Given the description of an element on the screen output the (x, y) to click on. 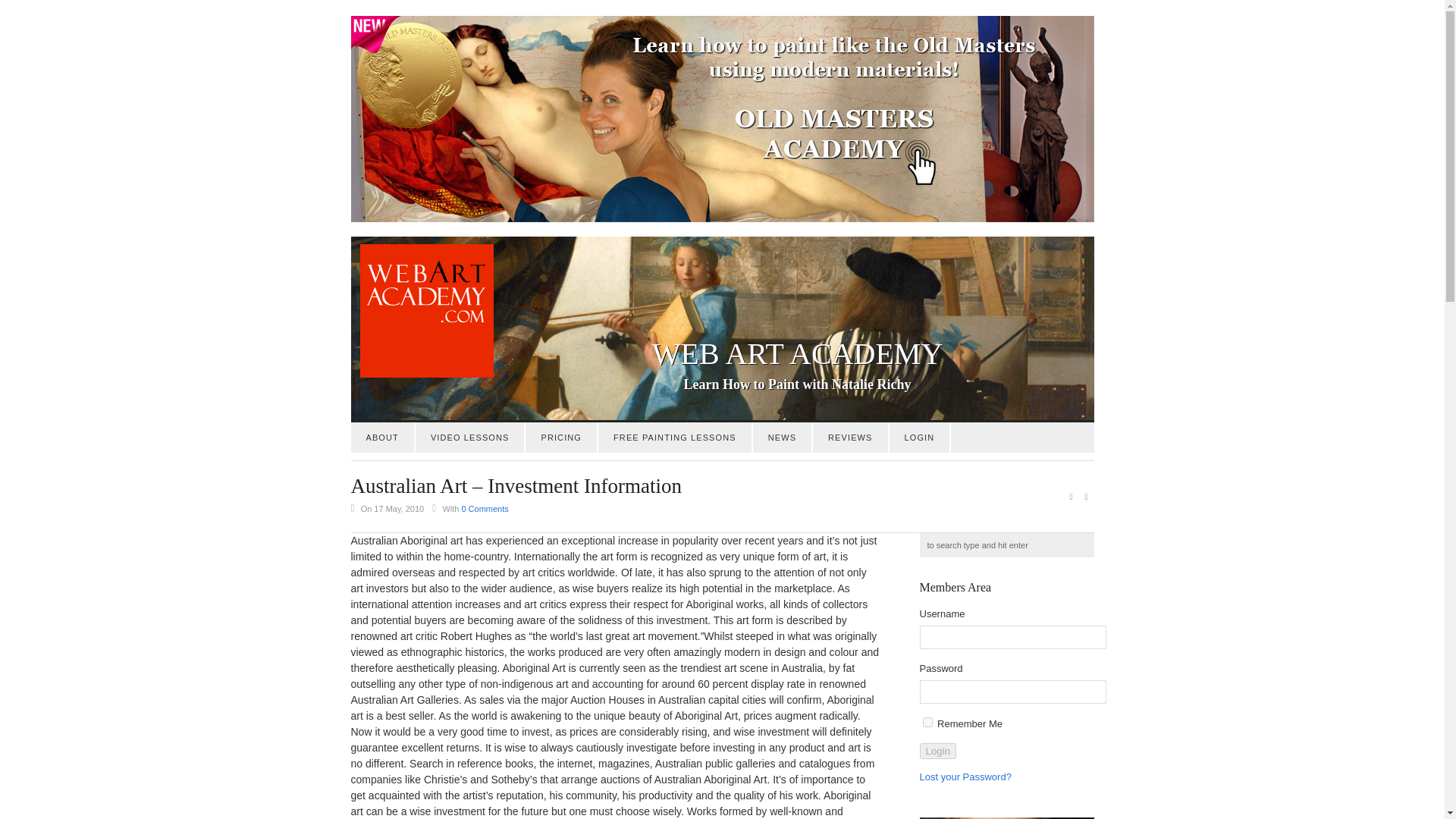
PRICING (560, 437)
NEWS (781, 437)
VIDEO LESSONS (469, 437)
FREE PAINTING LESSONS (674, 437)
Login (937, 750)
Lost your Password? (964, 776)
Web Art Academy (421, 374)
0 Comments (484, 508)
WEB ART ACADEMY (721, 353)
forever (926, 722)
REVIEWS (849, 437)
ABOUT (381, 437)
to search type and hit enter (1005, 545)
LOGIN (919, 437)
Login (937, 750)
